Given the description of an element on the screen output the (x, y) to click on. 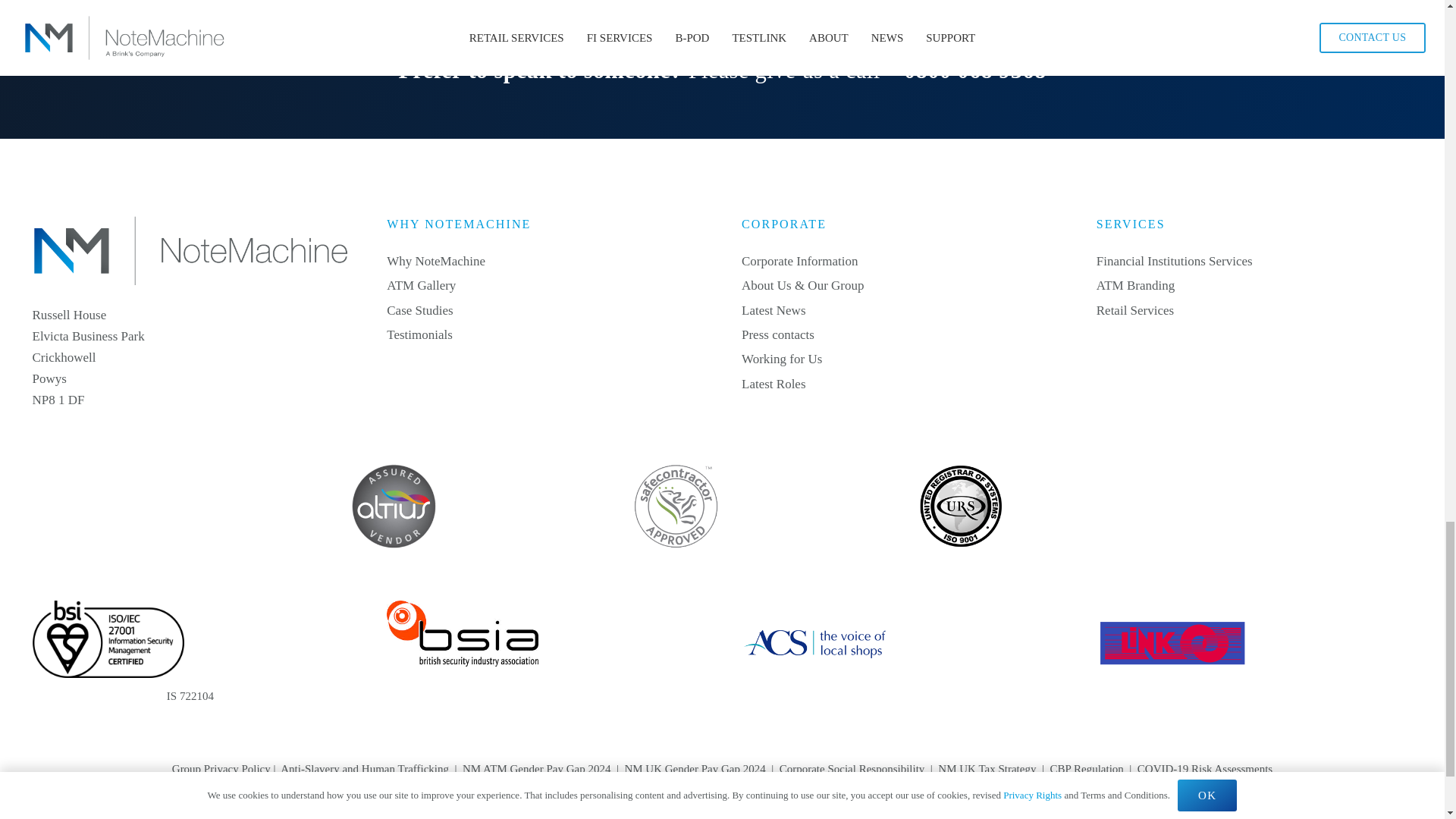
Corporate Information (799, 260)
Case Studies (419, 310)
ATM Gallery (421, 285)
ATM Branding (1135, 285)
Latest News (773, 310)
Working for Us (781, 359)
Latest Roles (773, 383)
Financial Institutions Services (1174, 260)
Why NoteMachine (435, 260)
Testimonials (419, 334)
Press contacts (777, 334)
